Given the description of an element on the screen output the (x, y) to click on. 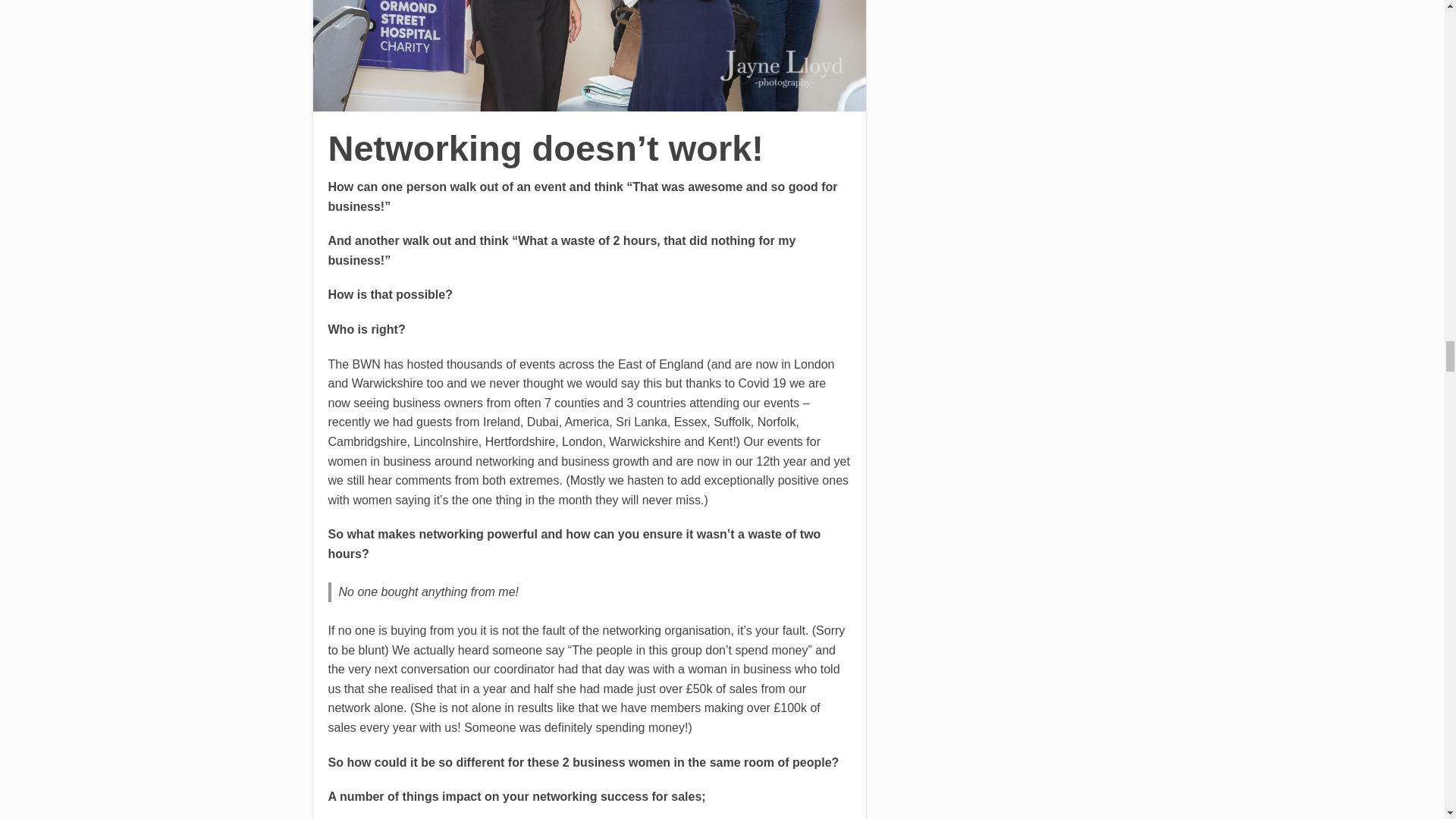
Networking doesn't work! (589, 55)
